Given the description of an element on the screen output the (x, y) to click on. 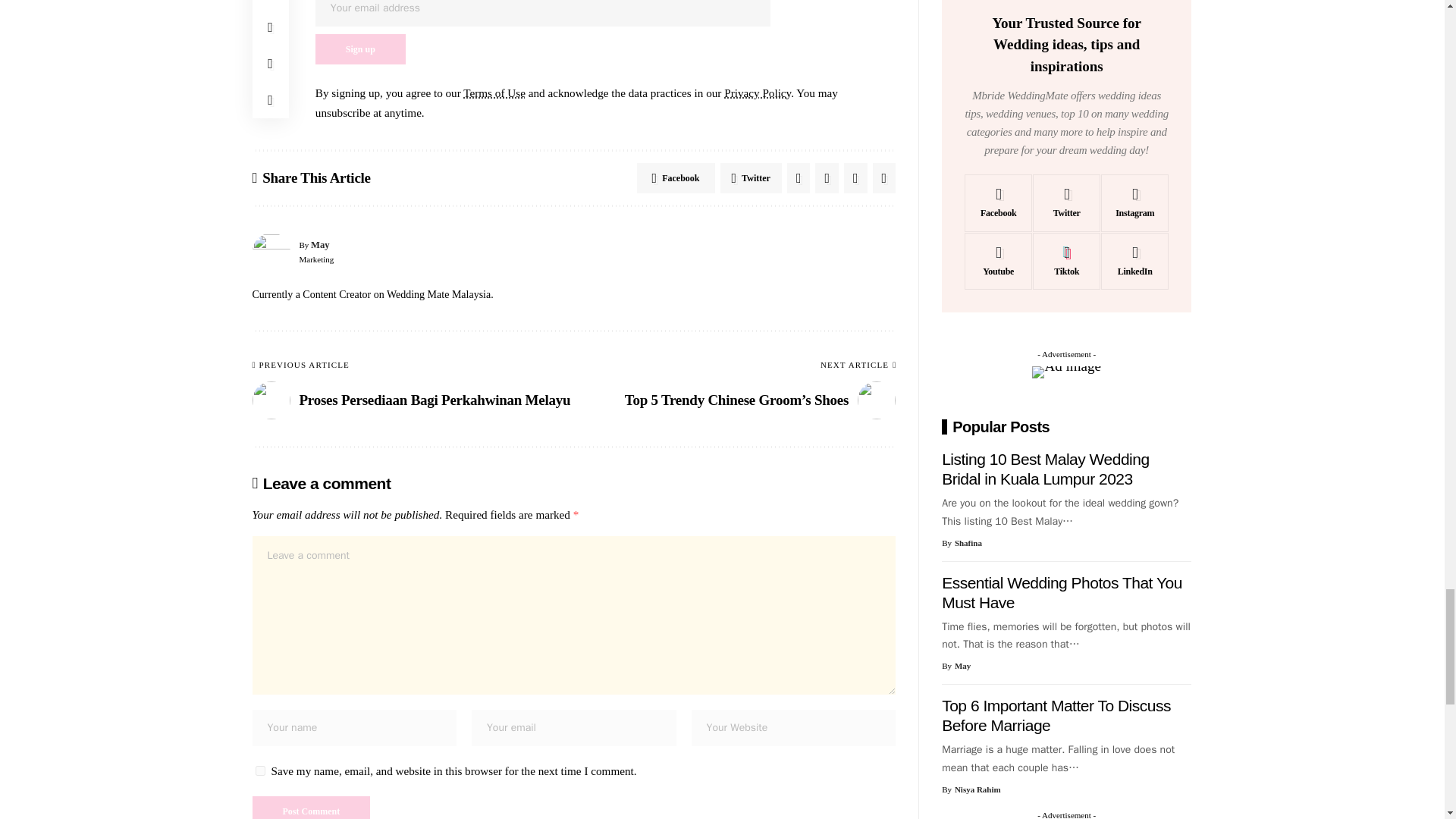
Sign up (360, 49)
Post Comment (310, 807)
yes (259, 770)
